Given the description of an element on the screen output the (x, y) to click on. 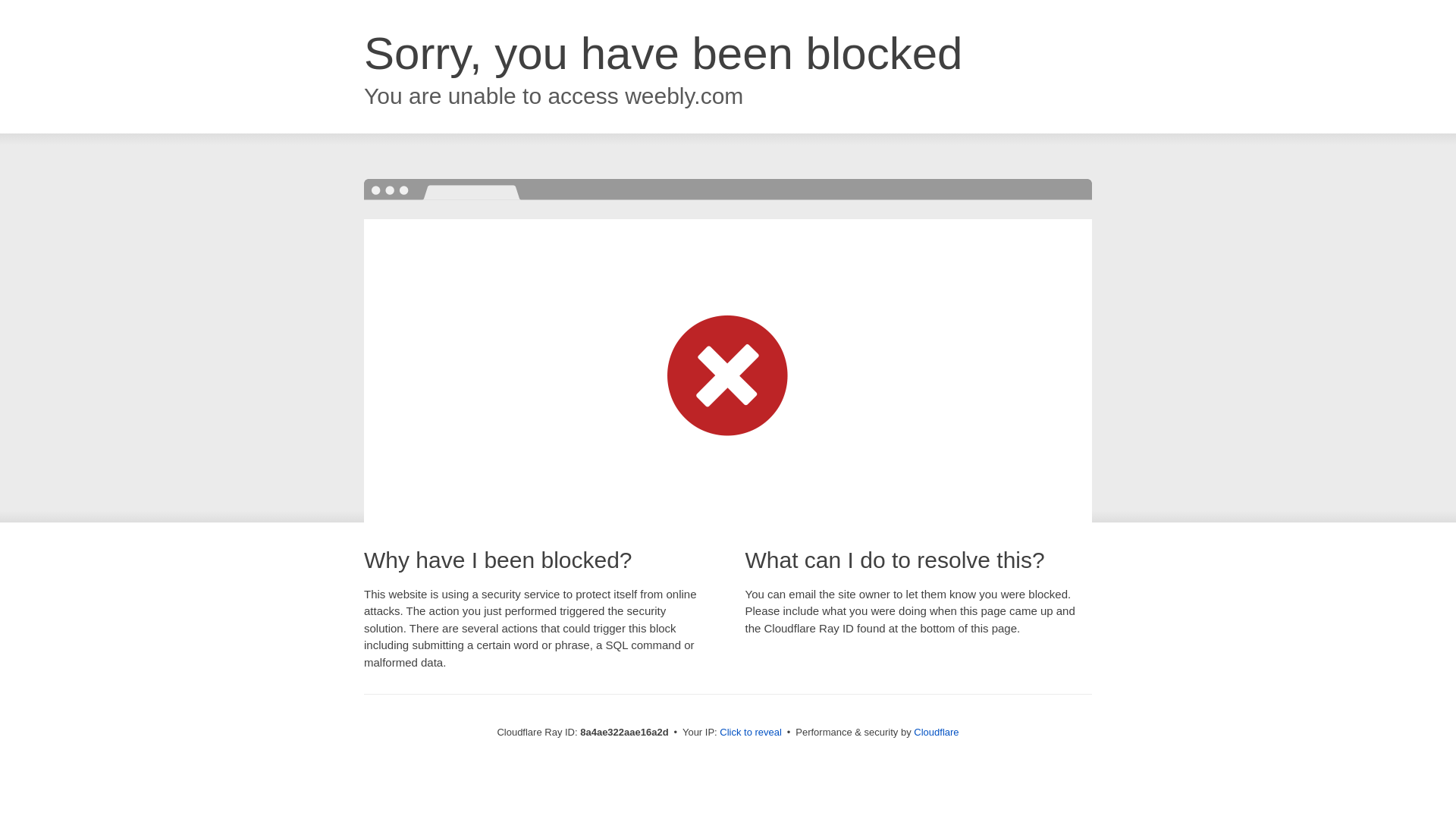
Click to reveal (750, 732)
Cloudflare (936, 731)
